Given the description of an element on the screen output the (x, y) to click on. 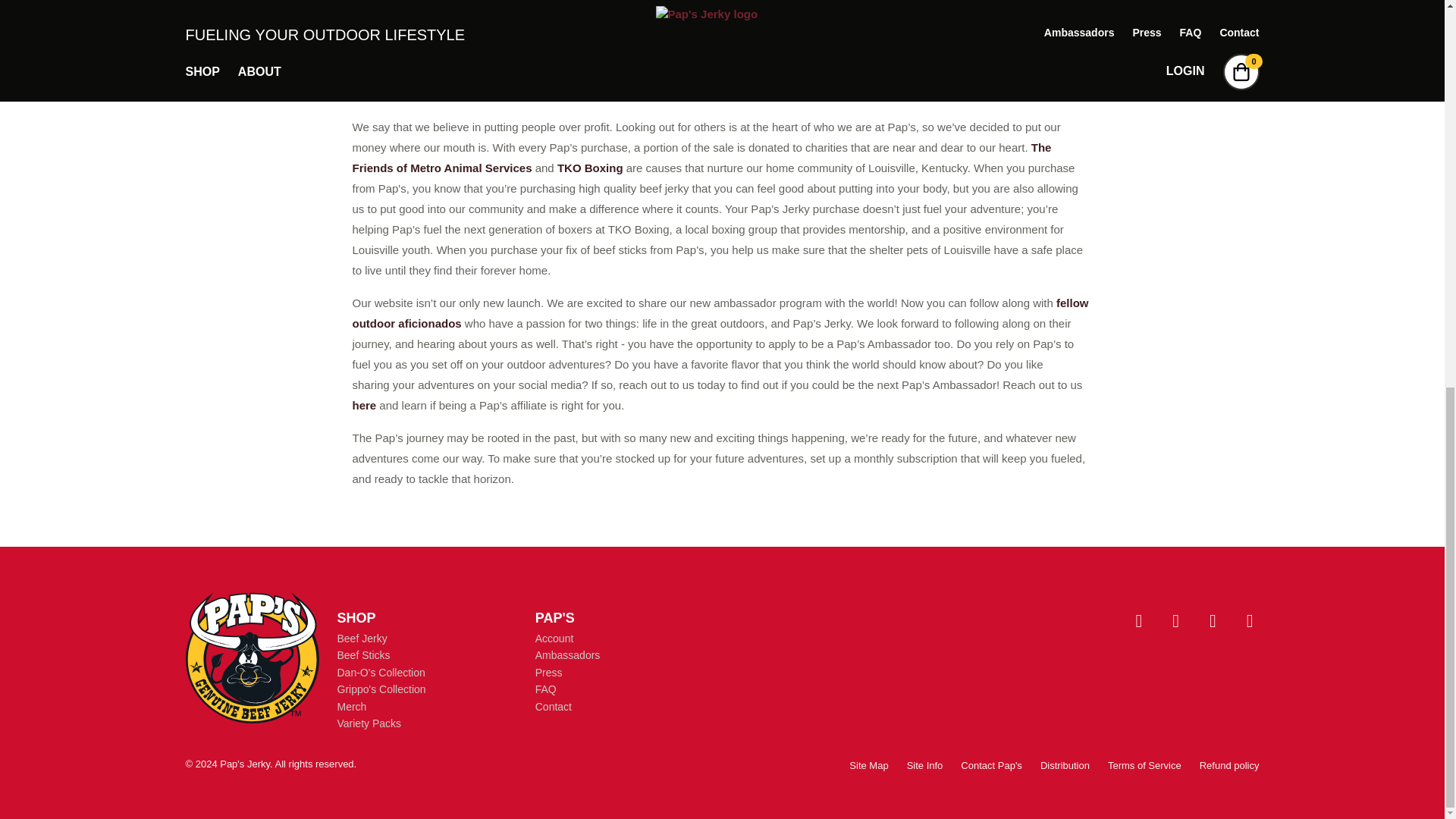
Site Map (868, 765)
Friends of Metro Animal Services Louisville (701, 157)
SHOP (355, 617)
Pap's Ambassadors (719, 313)
Press (548, 672)
Beef Sticks (363, 654)
here (363, 404)
Dan-O's Collection (380, 672)
Beef Jerky (361, 638)
Contact Pap's (991, 765)
